Given the description of an element on the screen output the (x, y) to click on. 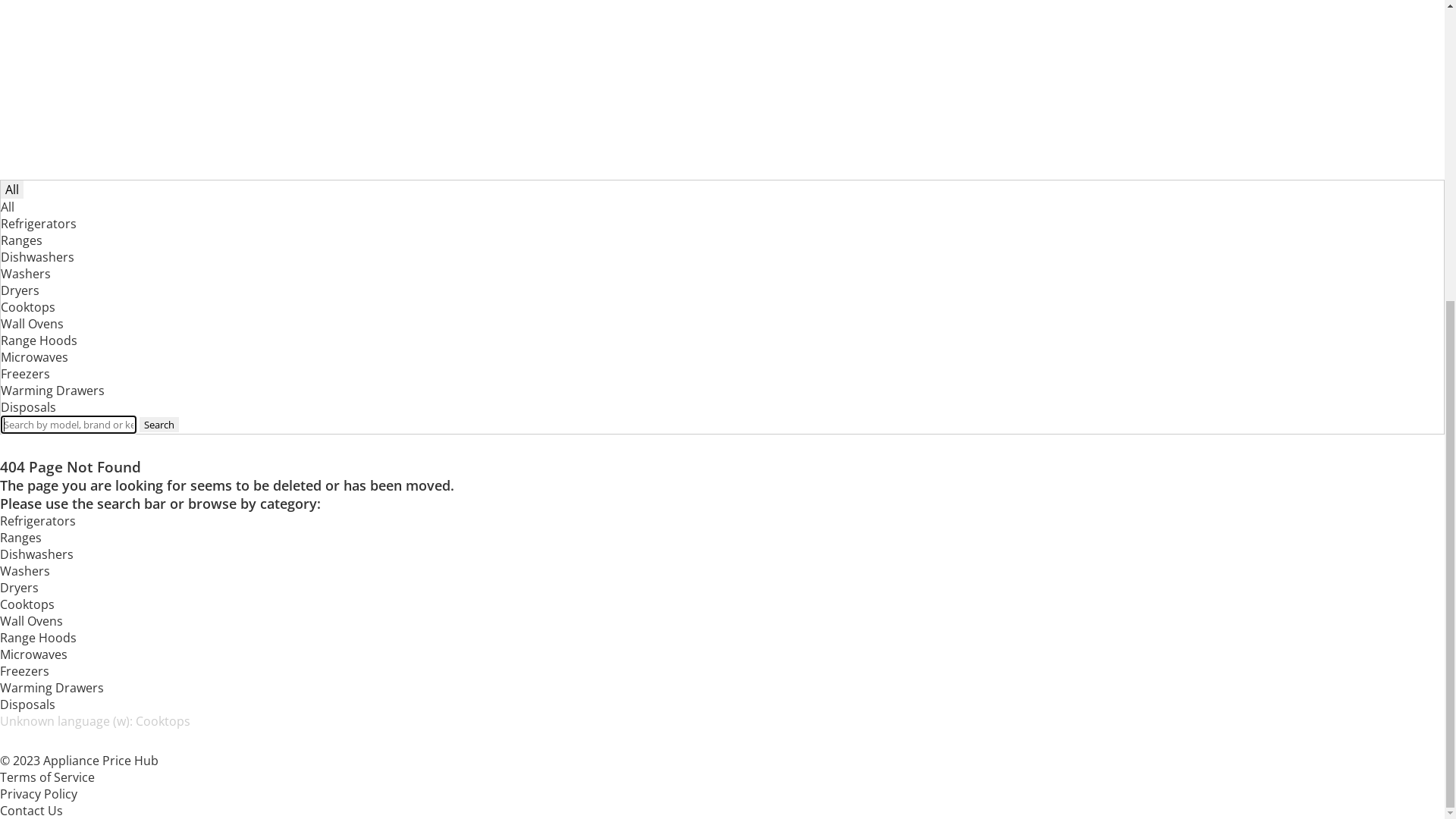
Ottawa, ON Element type: text (48, 328)
Washers Element type: text (25, 741)
Vancouver, BC Element type: text (57, 378)
Freezers Element type: text (24, 208)
Ranges Element type: text (20, 75)
More Element type: text (15, 259)
Cooktops Element type: text (27, 774)
Ranges Element type: text (21, 707)
Advertisement Element type: hover (721, 533)
Montreal, QC Element type: text (53, 344)
Range Hoods Element type: text (38, 808)
Microwaves Element type: text (33, 192)
Cooktops Element type: text (27, 142)
Home Element type: text (17, 42)
Dishwashers Element type: text (37, 724)
Calgary, AB Element type: text (47, 394)
Refrigerators Element type: text (37, 58)
Toronto, ON Element type: text (51, 311)
Range Hoods Element type: text (38, 175)
Washers Element type: text (25, 108)
Wall Ovens Element type: text (31, 158)
Warming Drawers Element type: text (51, 225)
Refrigerators Element type: text (38, 691)
Dryers Element type: text (19, 757)
Dishwashers Element type: text (36, 92)
Toronto, ON Element type: text (40, 275)
All Element type: text (11, 657)
Use My Location Element type: text (62, 294)
Wall Ovens Element type: text (31, 791)
Disposals Element type: text (27, 242)
Dryers Element type: text (19, 125)
All Element type: text (7, 674)
Quebec City, QC Element type: text (61, 361)
Edmonton, AB Element type: text (56, 411)
